Given the description of an element on the screen output the (x, y) to click on. 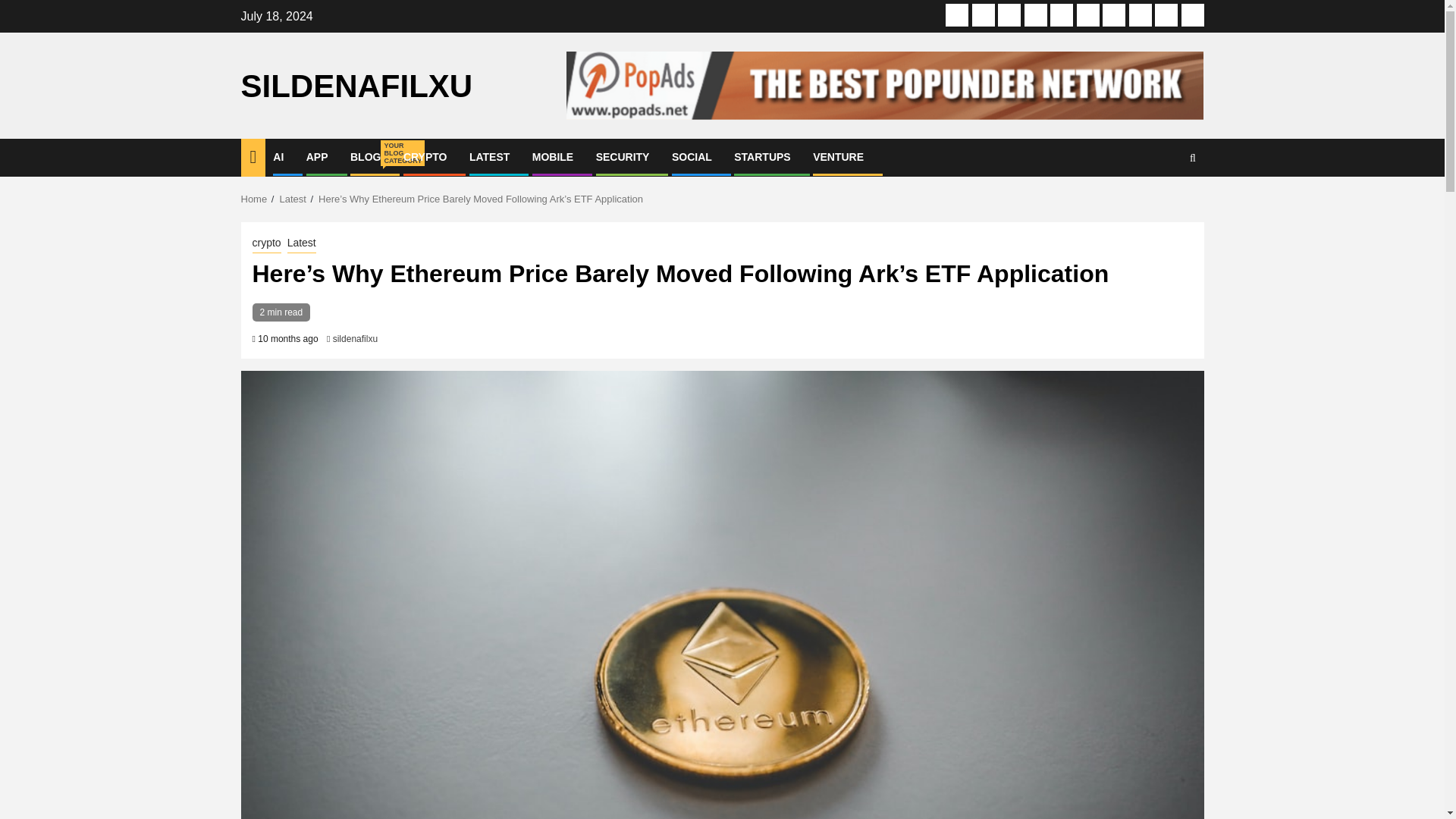
LATEST (488, 156)
crypto (1035, 15)
Latest (292, 198)
AI (278, 156)
MOBILE (552, 156)
App (365, 156)
APP (983, 15)
SOCIAL (317, 156)
VENTURE (691, 156)
Mobile (837, 156)
crypto (1088, 15)
CRYPTO (266, 244)
STARTUPS (424, 156)
sildenafilxu (761, 156)
